Given the description of an element on the screen output the (x, y) to click on. 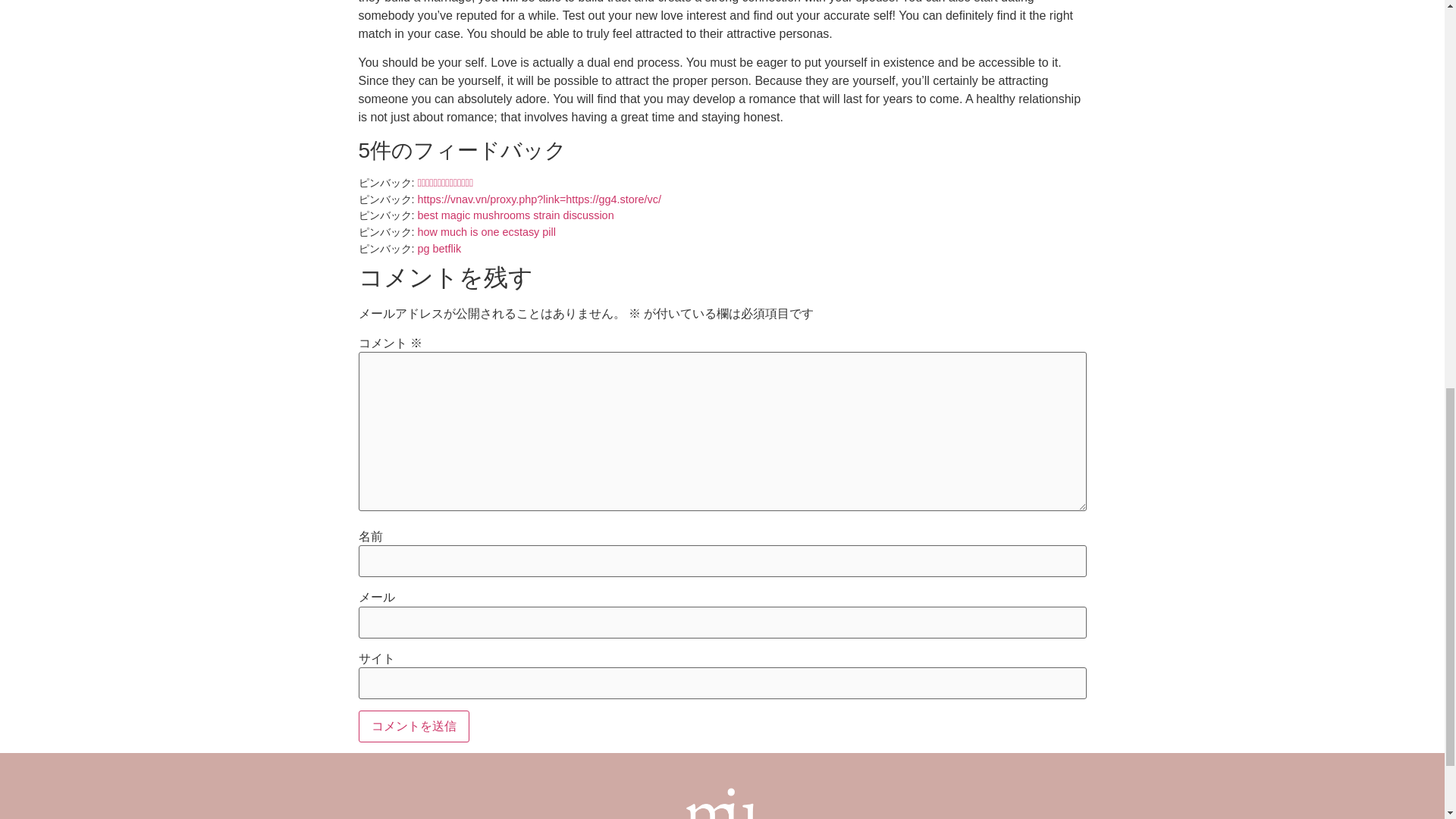
best magic mushrooms strain discussion (514, 215)
pg betflik (438, 248)
how much is one ecstasy pill (485, 232)
